Given the description of an element on the screen output the (x, y) to click on. 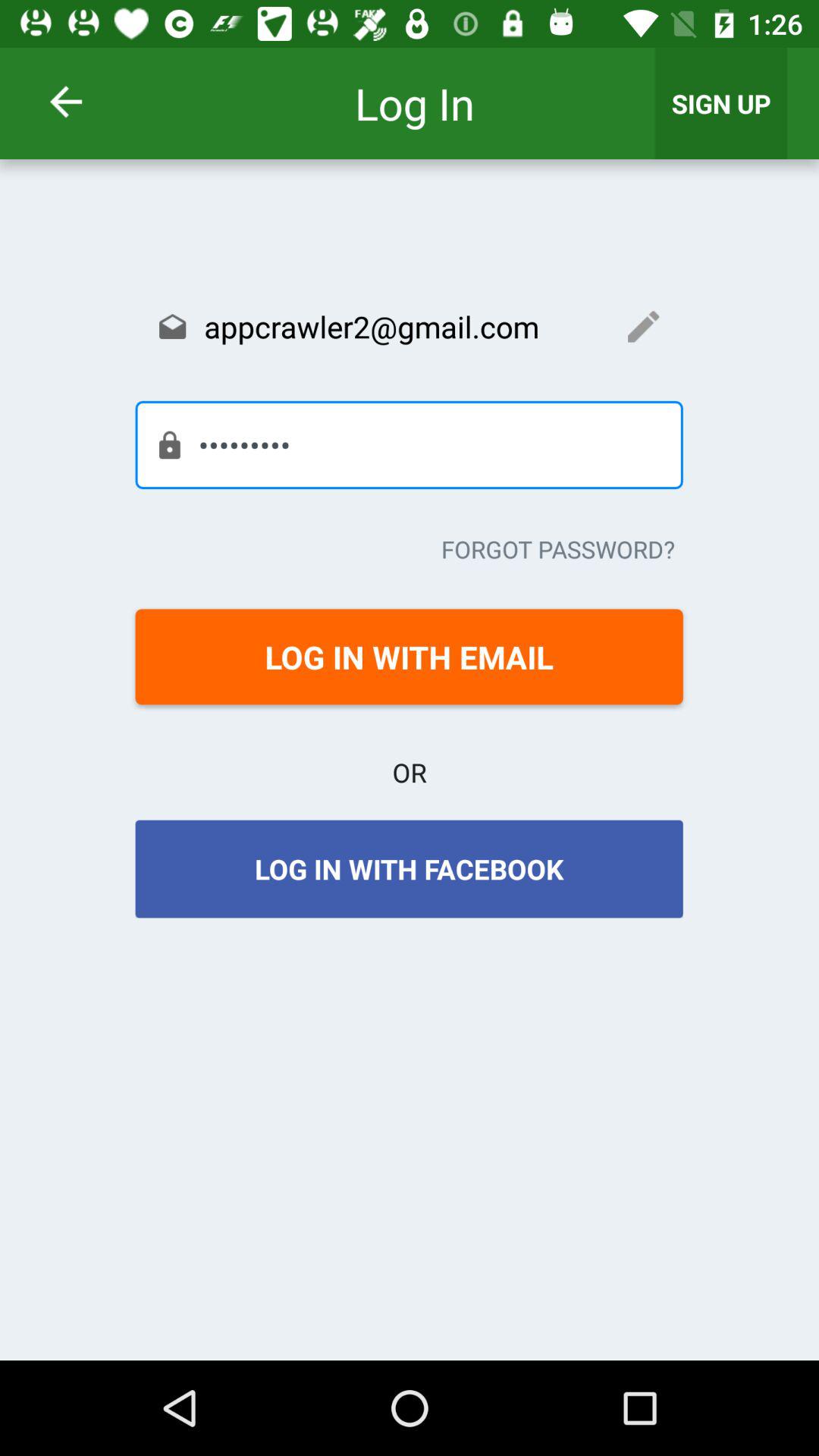
choose the forgot password? icon (558, 548)
